Given the description of an element on the screen output the (x, y) to click on. 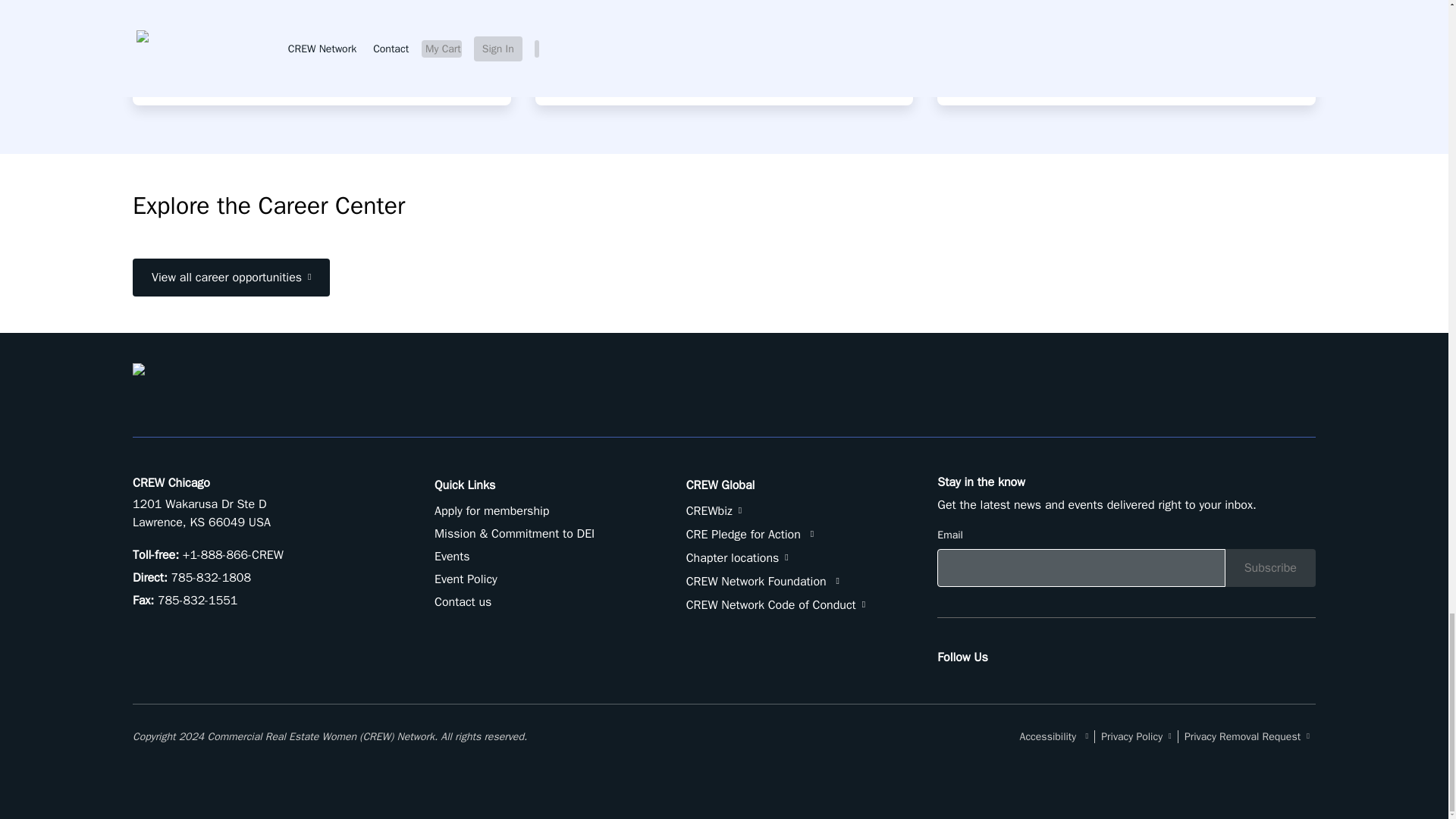
News (160, 71)
Apply for membership (490, 510)
Events (451, 556)
View all career opportunities (231, 277)
App (960, 71)
Event Policy (465, 579)
Resources Overview (606, 71)
785-832-1808 (210, 577)
